Given the description of an element on the screen output the (x, y) to click on. 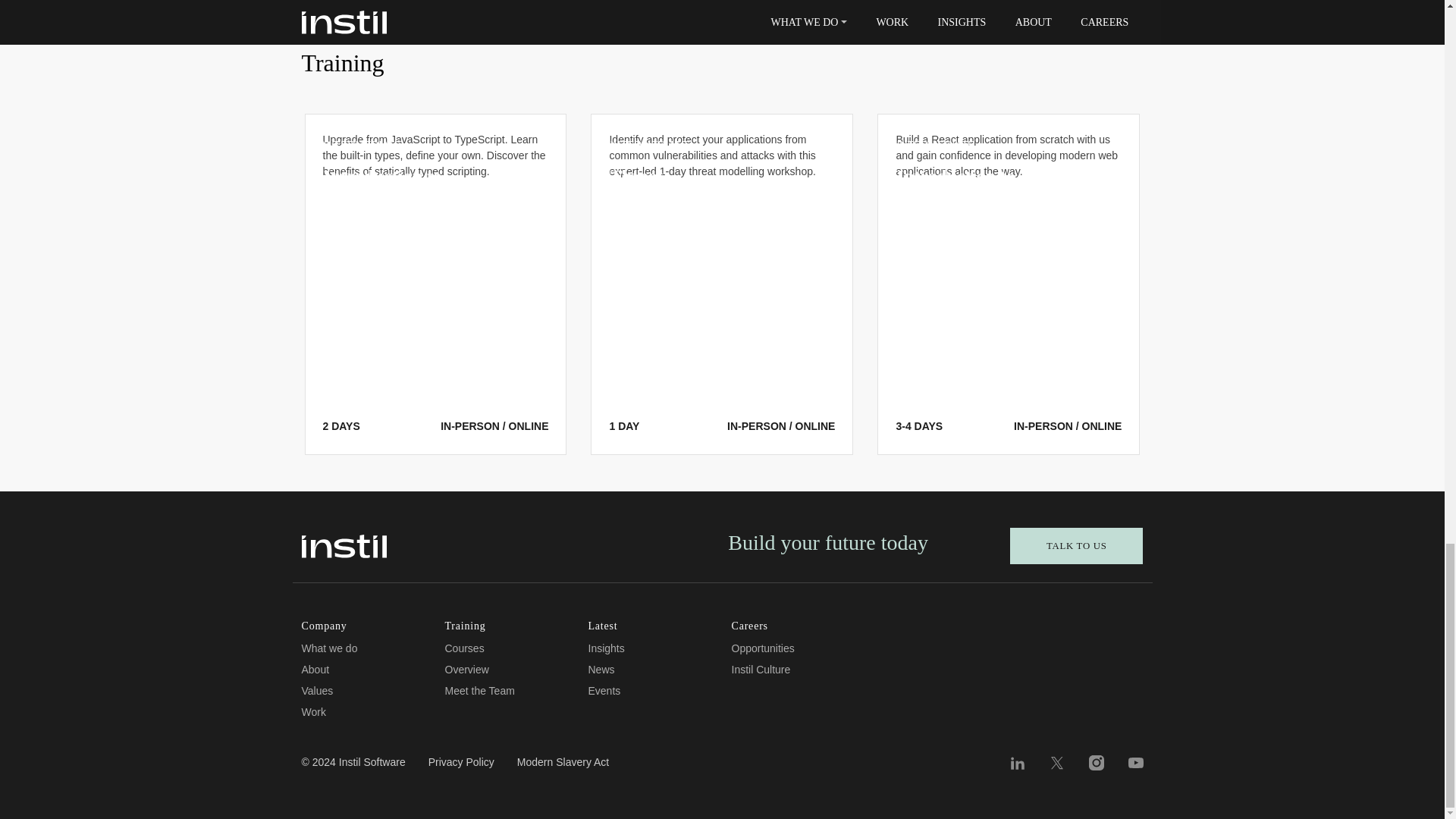
Courses (463, 648)
What we do (329, 648)
Work (313, 711)
Insights (606, 648)
News (601, 669)
Overview (465, 669)
Meet the Team (478, 690)
About (315, 669)
Events (604, 690)
Opportunities (761, 648)
Values (317, 690)
Modern Slavery Act (562, 768)
TALK TO US (1076, 545)
Privacy Policy (461, 768)
Instil Culture (760, 669)
